Given the description of an element on the screen output the (x, y) to click on. 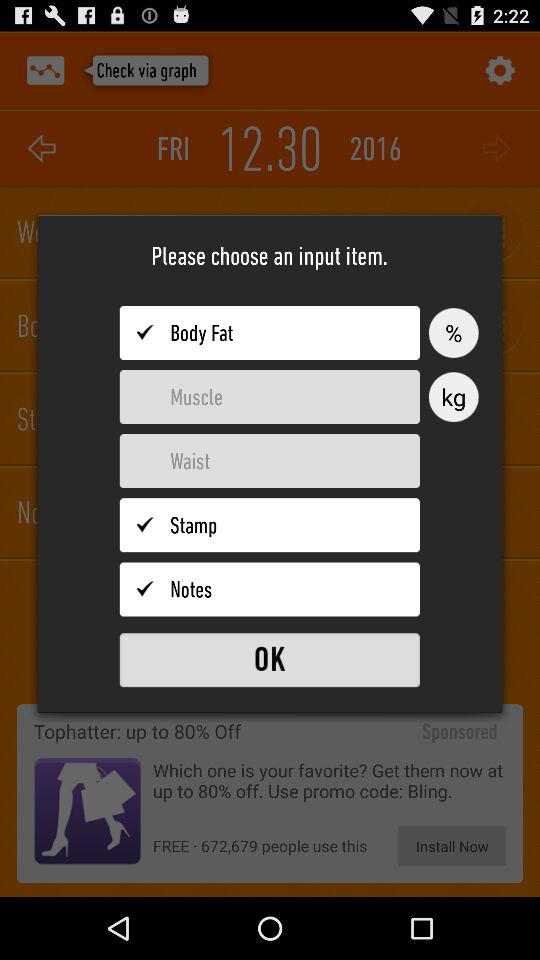
choose notes (269, 589)
